Given the description of an element on the screen output the (x, y) to click on. 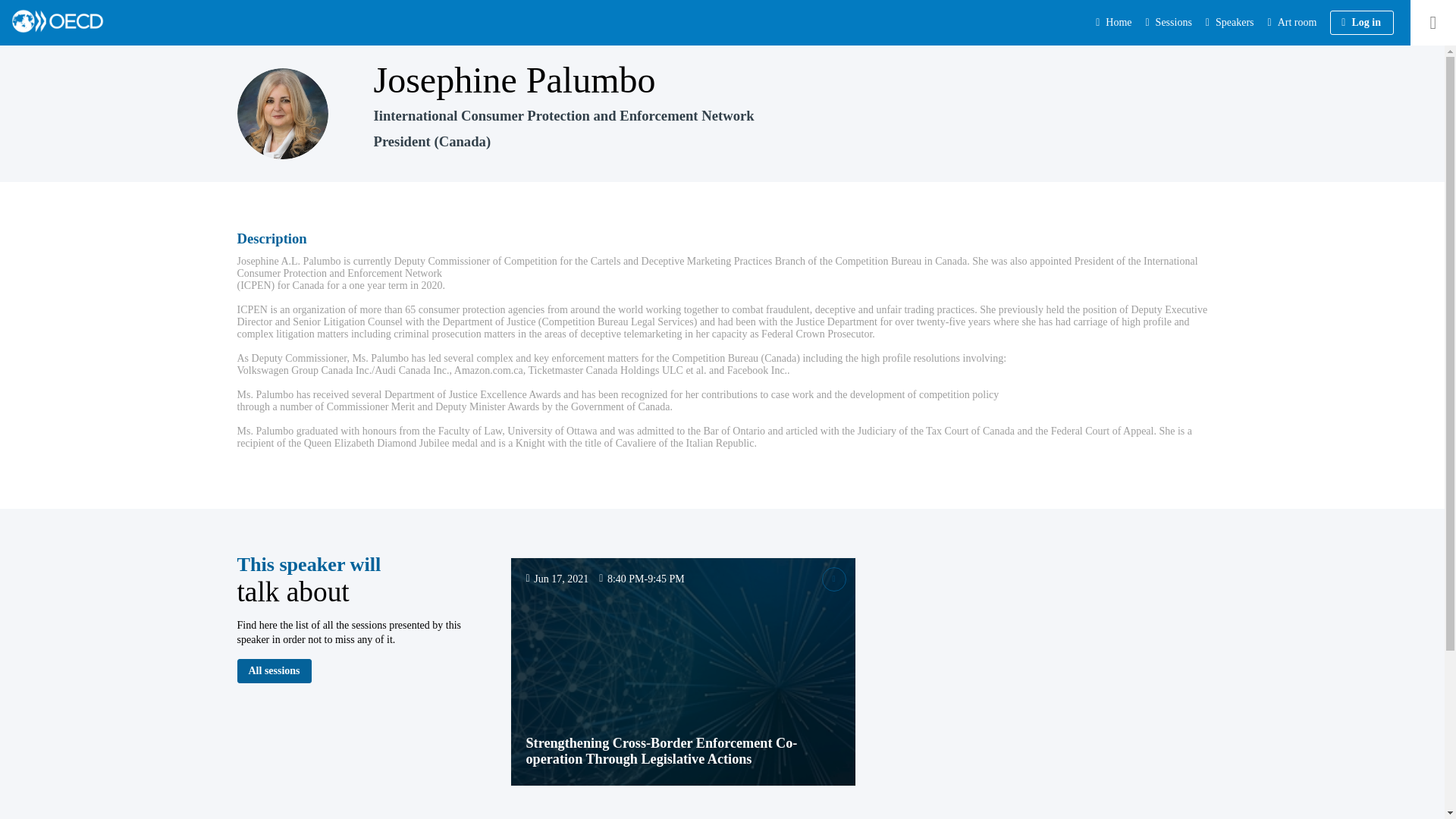
Speakers (1230, 22)
All sessions (273, 671)
Art room (1293, 22)
Sessions (1168, 22)
Log in (1361, 22)
Evaluate (833, 579)
